Given the description of an element on the screen output the (x, y) to click on. 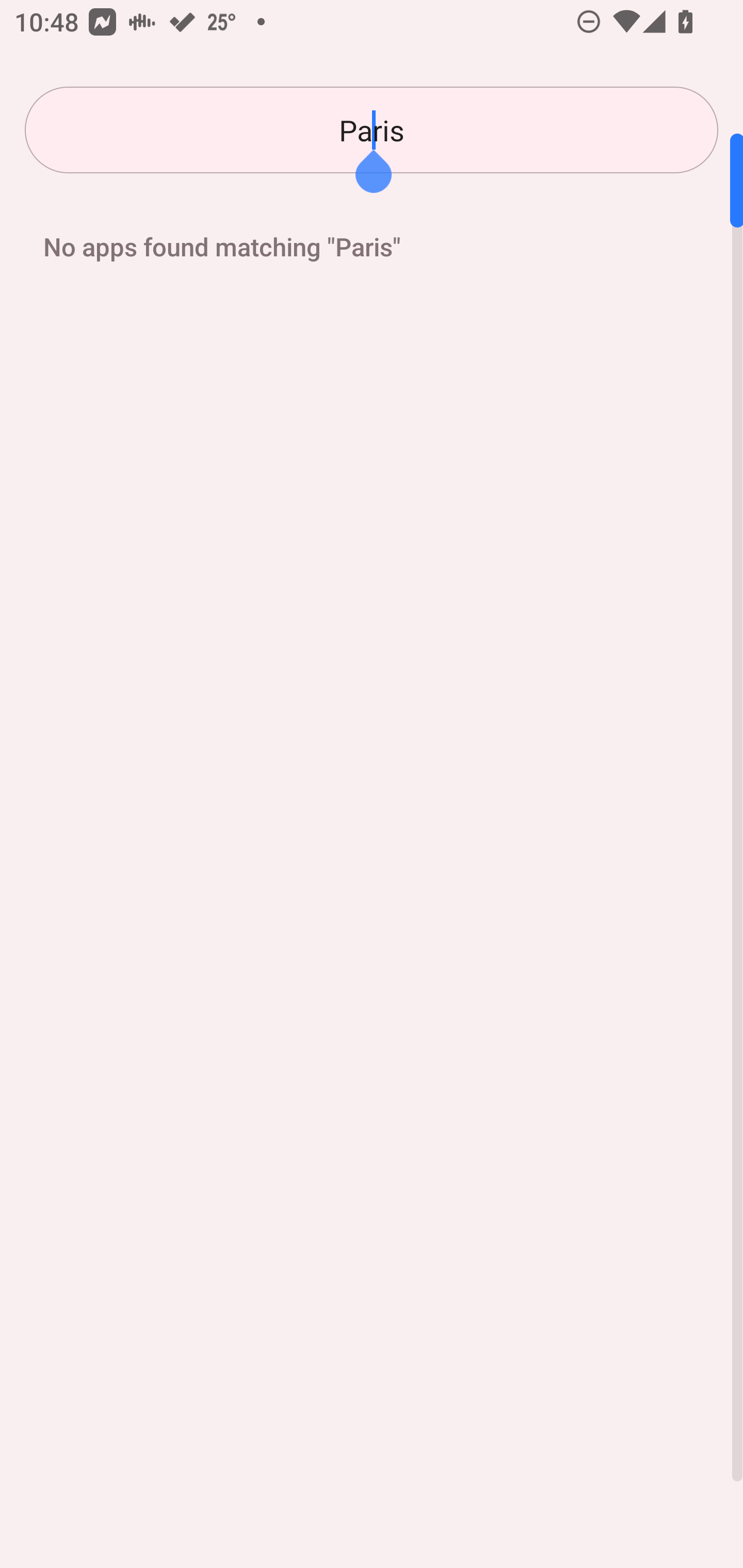
Paris (371, 130)
